Given the description of an element on the screen output the (x, y) to click on. 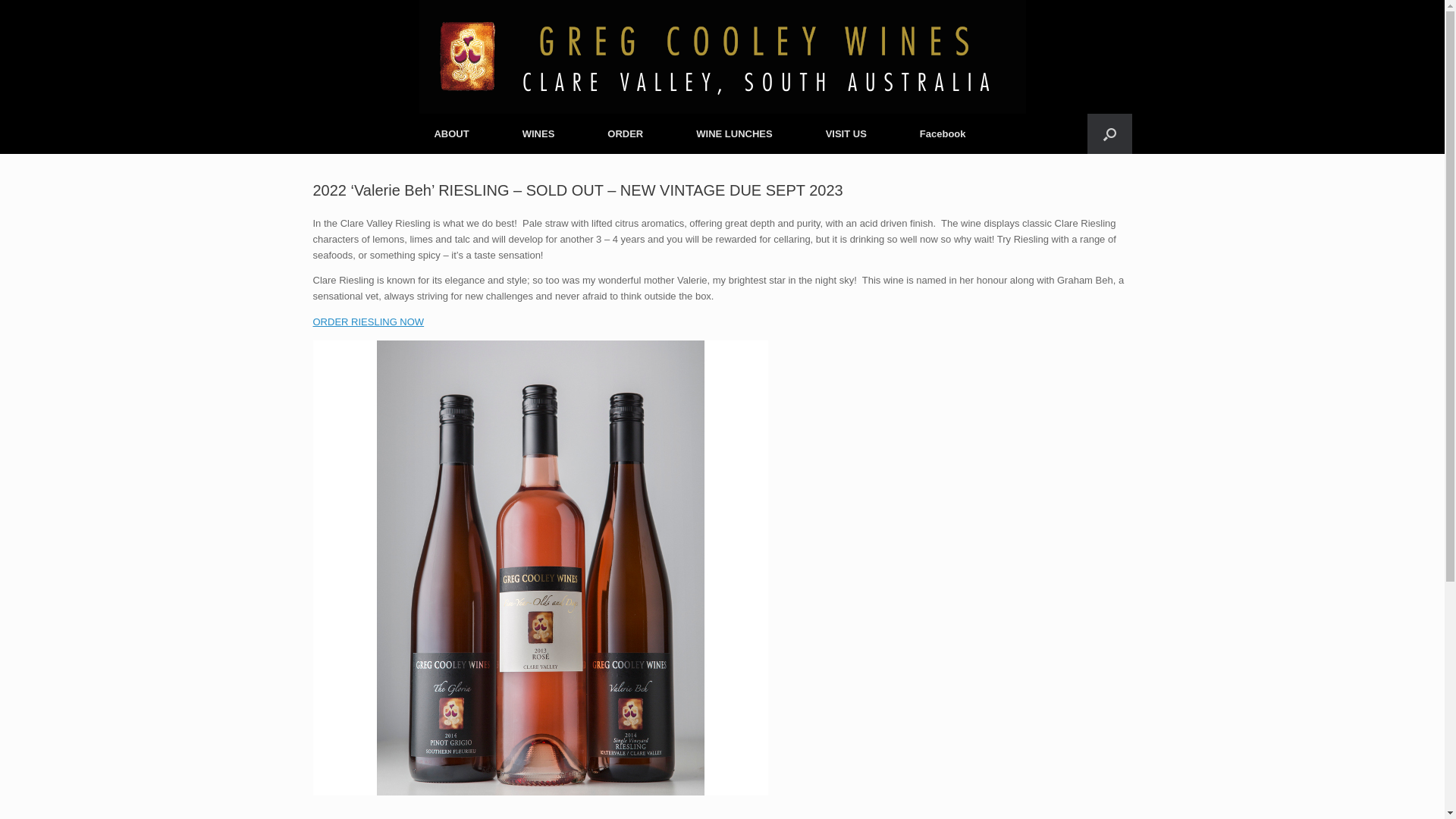
VISIT US Element type: text (846, 133)
WINES Element type: text (538, 133)
ORDER Element type: text (624, 133)
Facebook Element type: text (942, 133)
WINE LUNCHES Element type: text (733, 133)
ABOUT Element type: text (451, 133)
ORDER RIESLING NOW Element type: text (367, 321)
Greg Cooley Wines Element type: hover (721, 56)
